Given the description of an element on the screen output the (x, y) to click on. 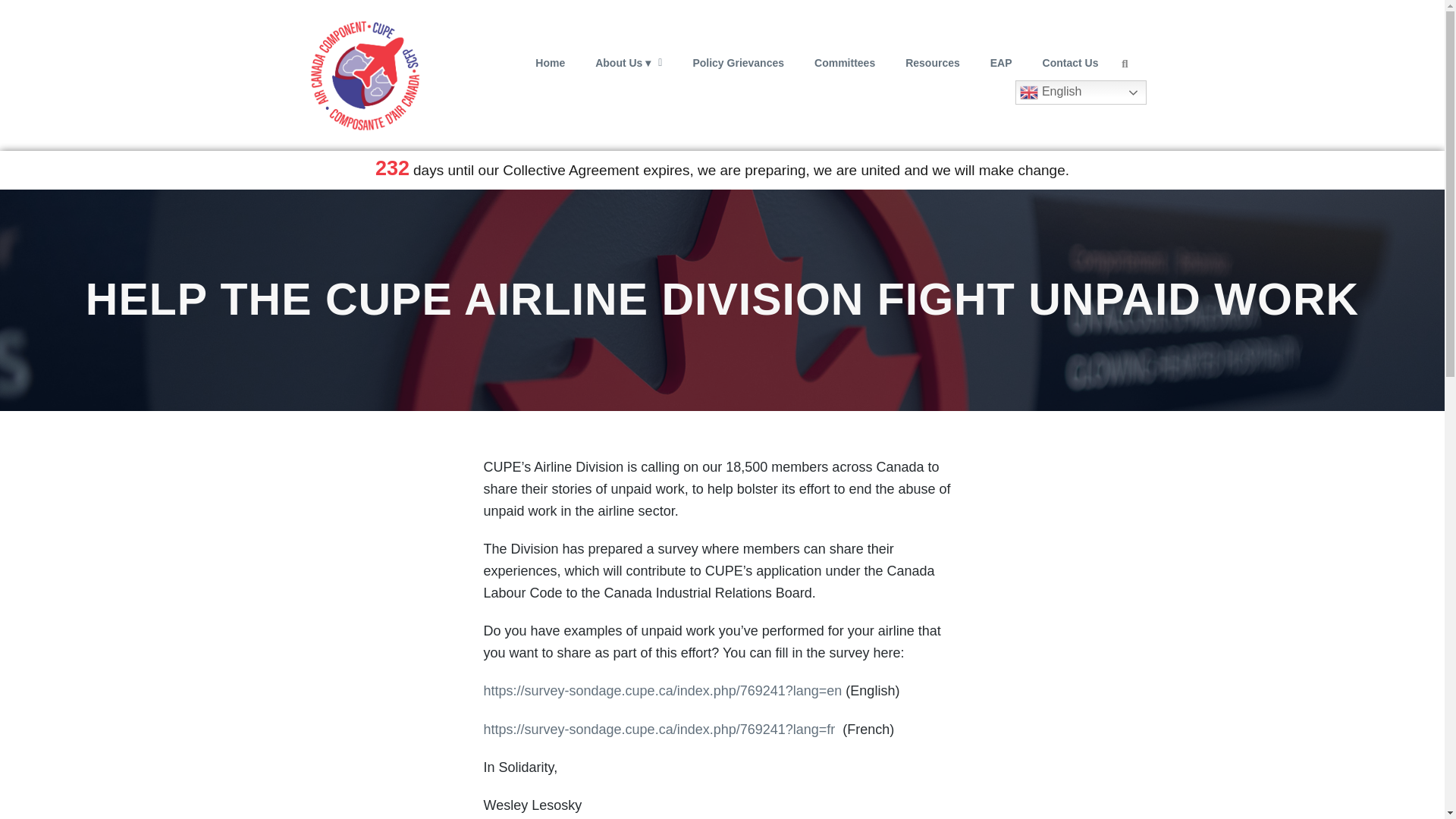
Home (549, 62)
Contact Us (1070, 62)
EAP (1001, 62)
English (1080, 92)
Resources (932, 62)
Policy Grievances (738, 62)
Committees (844, 62)
